Given the description of an element on the screen output the (x, y) to click on. 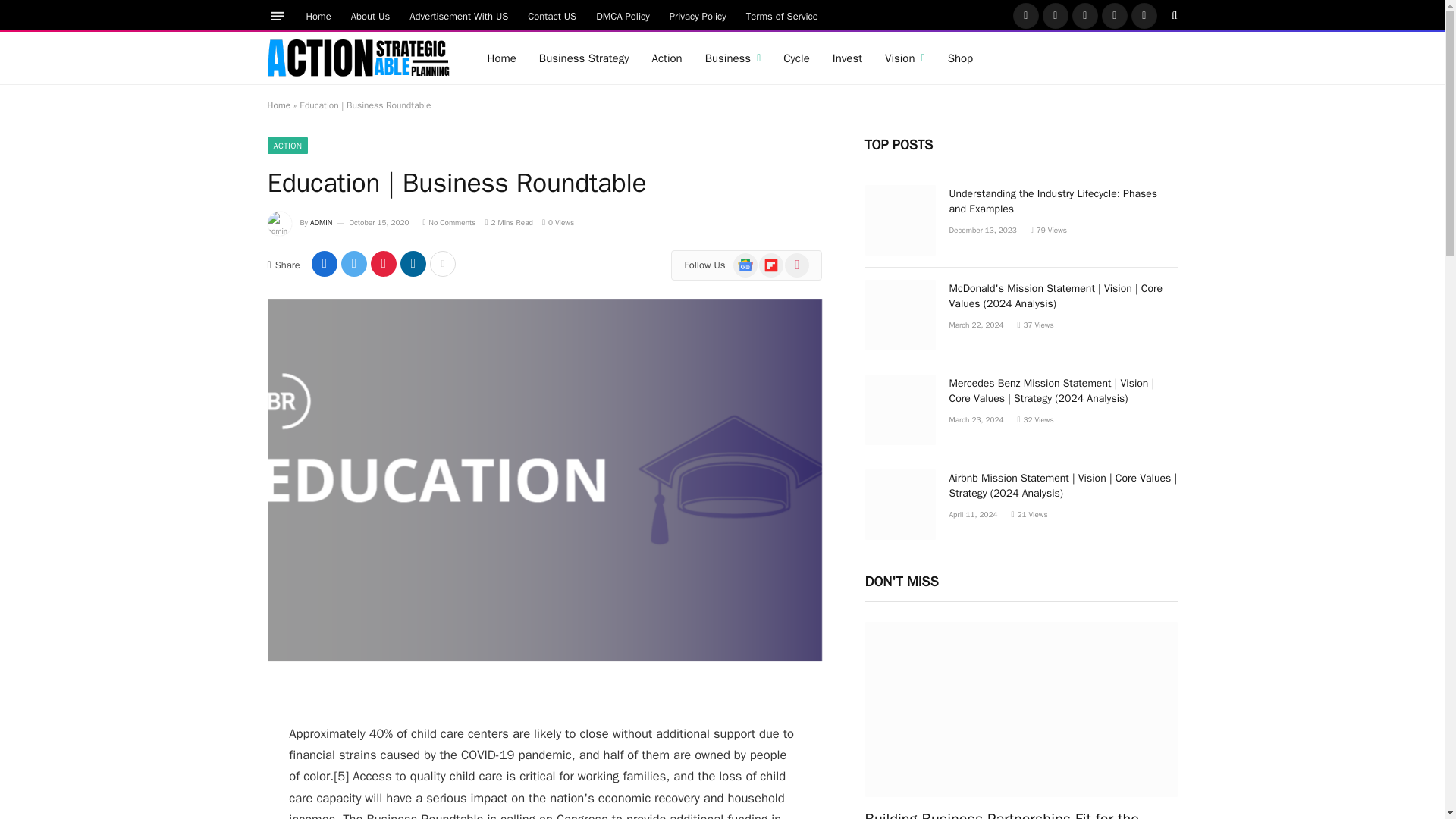
Action (666, 57)
Vimeo (1144, 15)
Actionable Strategic Planning (357, 58)
Business Strategy (583, 57)
About Us (369, 15)
0 Article Views (557, 222)
Share on Facebook (324, 263)
Facebook (1026, 15)
Advertisement With US (458, 15)
Home (317, 15)
Home (501, 57)
DMCA Policy (622, 15)
Terms of Service (782, 15)
Pinterest (1114, 15)
